Given the description of an element on the screen output the (x, y) to click on. 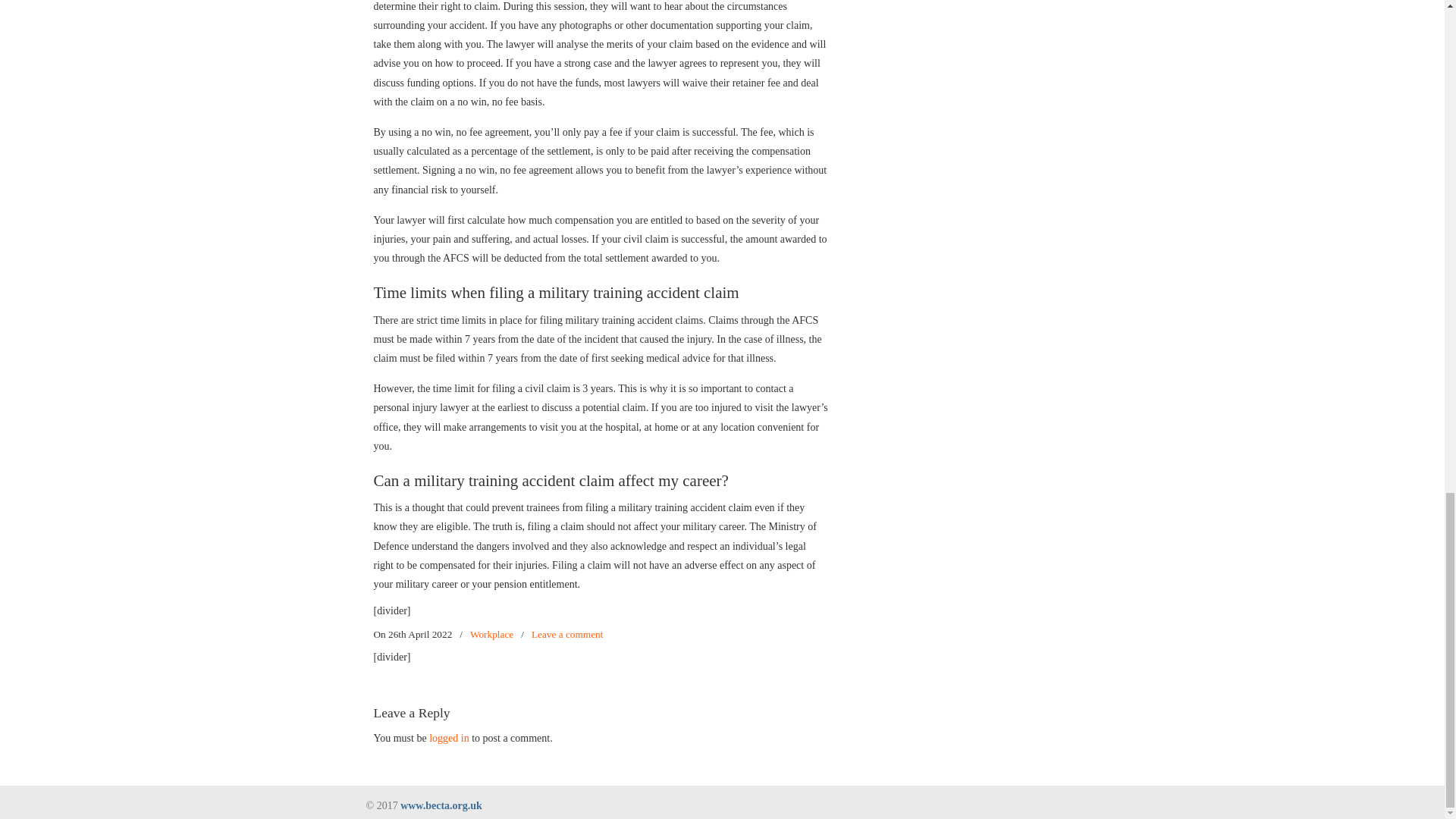
Workplace (491, 634)
www.becta.org.uk (440, 805)
logged in (448, 737)
Leave a comment (567, 634)
